Given the description of an element on the screen output the (x, y) to click on. 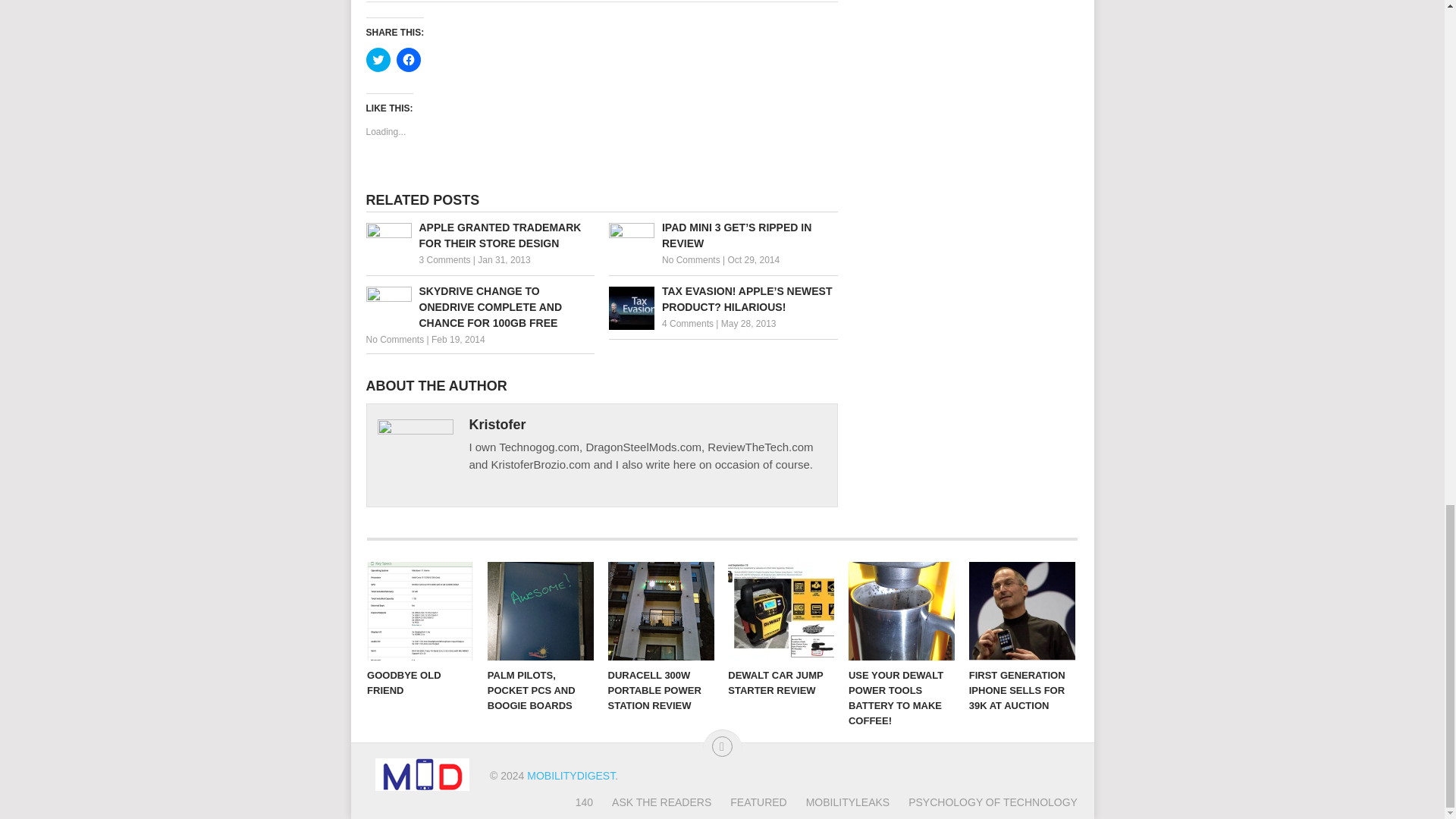
No Comments (394, 339)
Click to share on Twitter (377, 59)
3 Comments (444, 259)
Apple Granted Trademark for Their Store Design (479, 235)
PALM PILOTS, POCKET PCS AND BOOGIE BOARDS (540, 610)
APPLE GRANTED TRADEMARK FOR THEIR STORE DESIGN (479, 235)
FIRST GENERATION IPHONE SELLS FOR 39K AT AUCTION (1022, 610)
4 Comments (687, 323)
DURACELL 300W PORTABLE POWER STATION REVIEW (661, 610)
GOODBYE OLD FRIEND (419, 610)
No Comments (691, 259)
DEWALT CAR JUMP STARTER REVIEW (781, 610)
USE YOUR DEWALT POWER TOOLS BATTERY TO MAKE COFFEE! (901, 610)
Click to share on Facebook (408, 59)
